Given the description of an element on the screen output the (x, y) to click on. 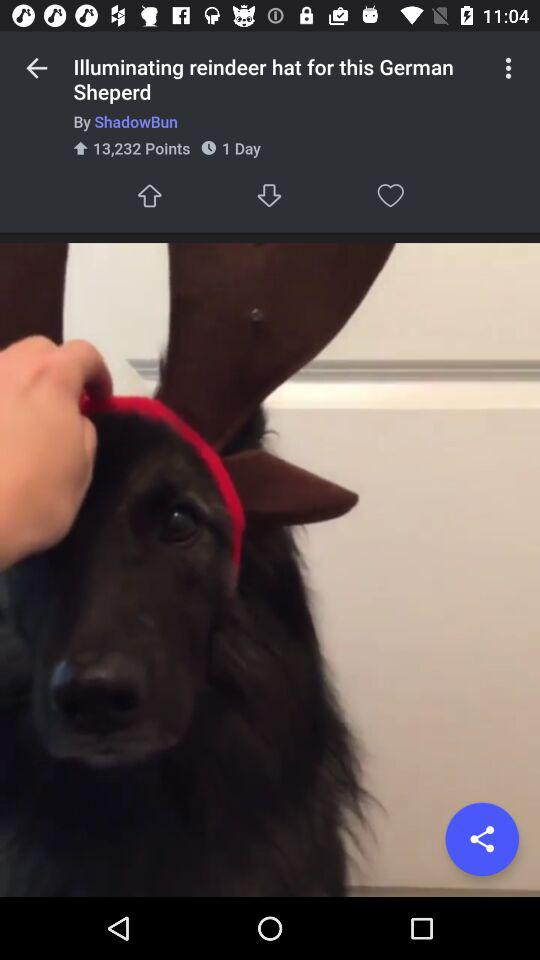
scroll to the by shadowbun item (278, 121)
